Given the description of an element on the screen output the (x, y) to click on. 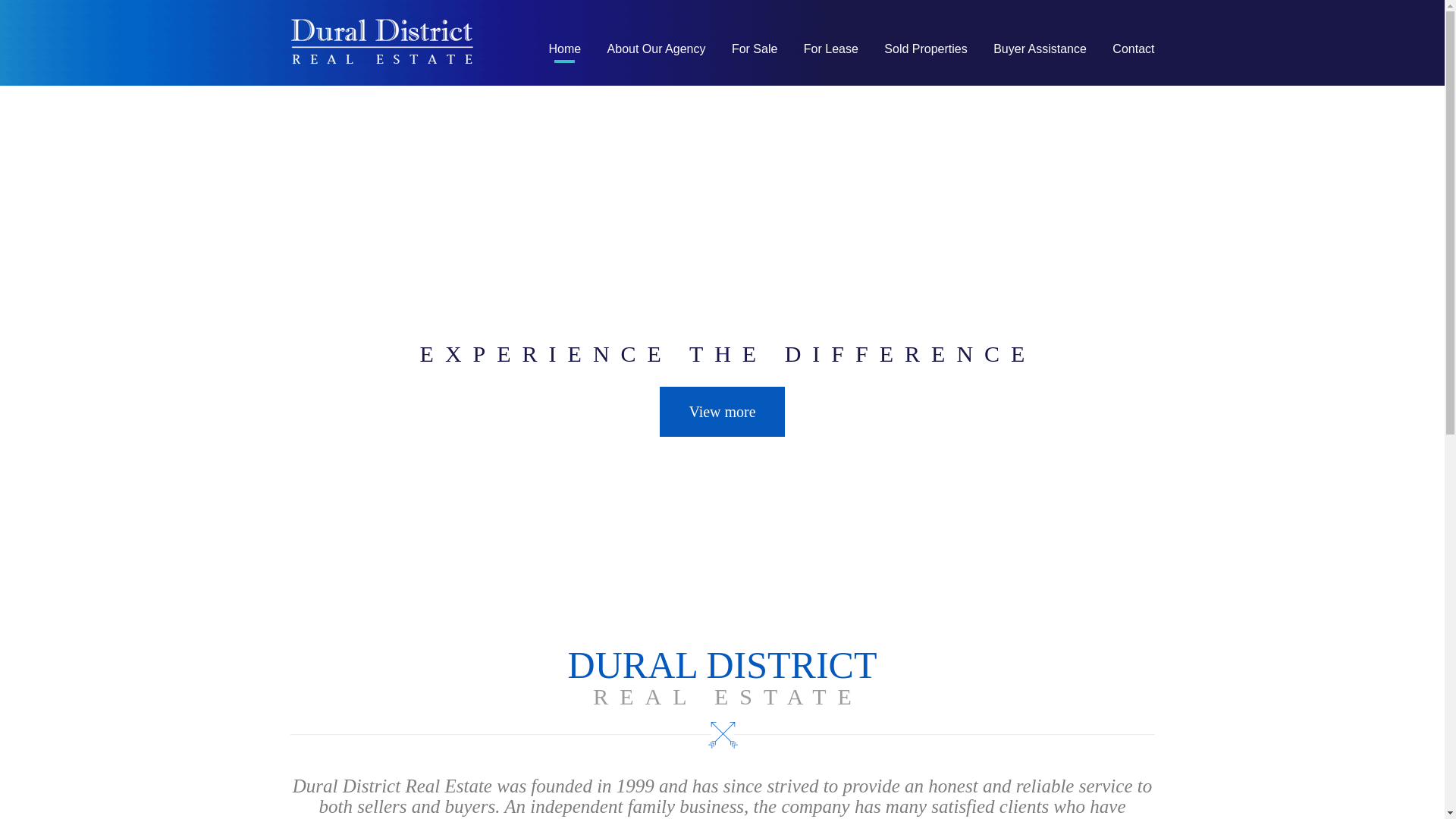
Home Element type: text (564, 48)
View more Element type: text (721, 411)
Sold Properties Element type: text (925, 48)
Contact Element type: text (1133, 48)
About Our Agency Element type: text (656, 48)
For Sale Element type: text (754, 48)
For Lease Element type: text (830, 48)
Buyer Assistance Element type: text (1039, 48)
